Given the description of an element on the screen output the (x, y) to click on. 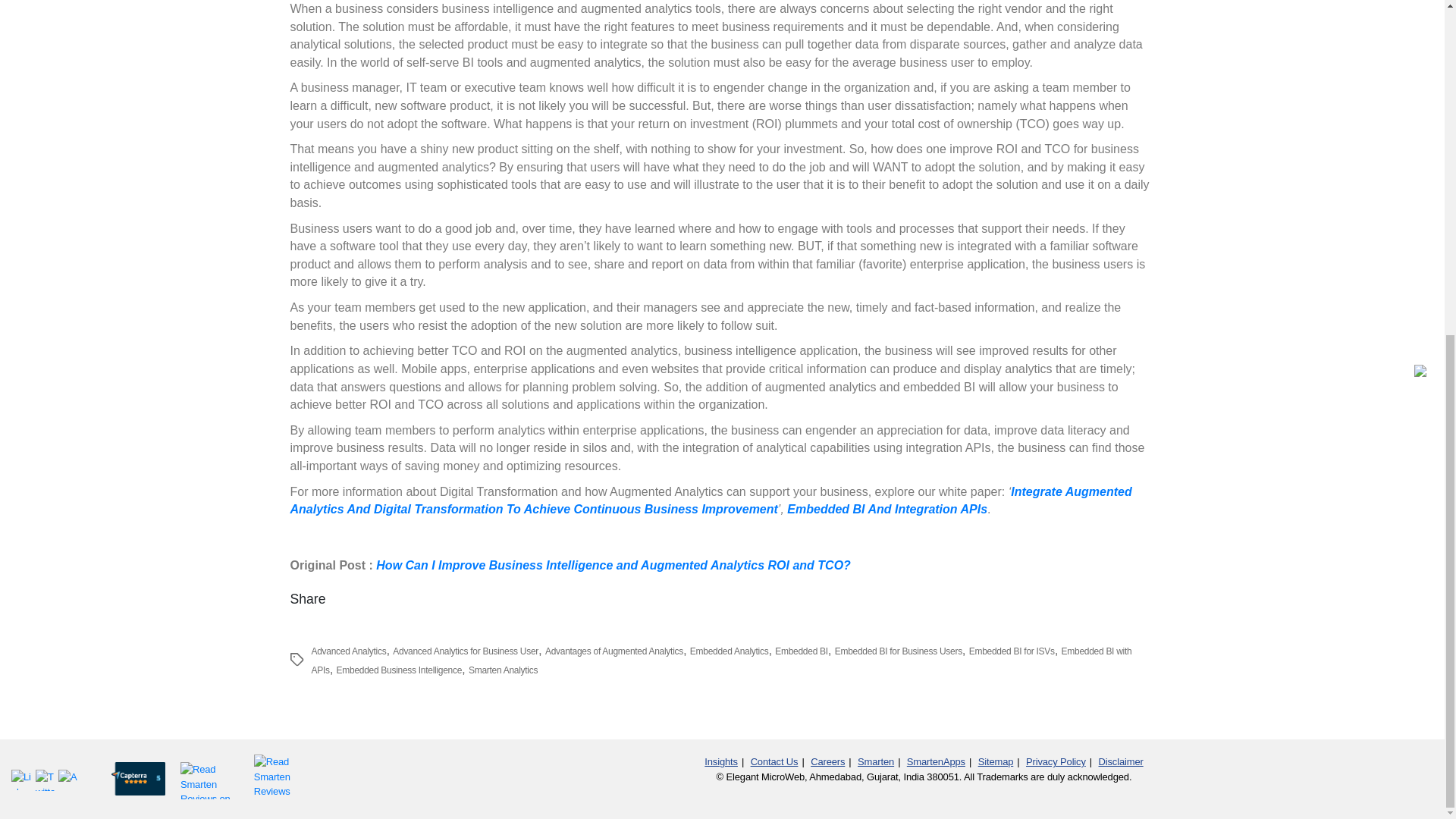
LinkedIn (22, 779)
Read Smarten Reviews on GetApp (207, 776)
Augmented Analytics and Advanced Analytics Smarten Blog (68, 779)
Read Smarten Reviews on GetApp (275, 778)
Twitter (46, 780)
